Given the description of an element on the screen output the (x, y) to click on. 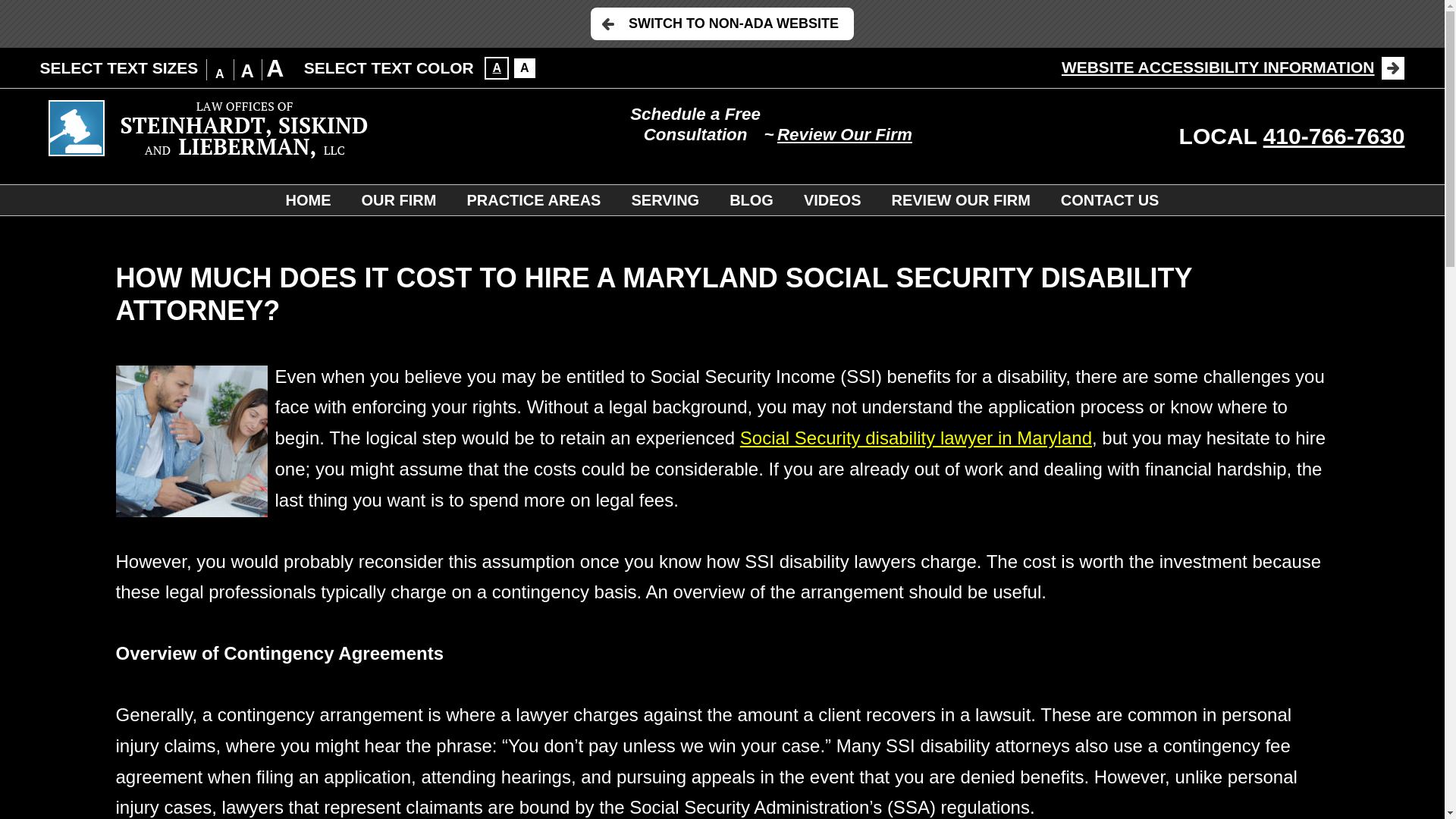
A (524, 67)
Click to view external accessibility article (1233, 67)
HOME (308, 200)
Review Our Firm (844, 135)
410-766-7630 (1334, 135)
OUR FIRM (398, 200)
SWITCH TO NON-ADA WEBSITE (722, 23)
WEBSITE ACCESSIBILITY INFORMATION (1233, 67)
Invert Colors (496, 67)
Invert Colors (524, 67)
A (496, 67)
PRACTICE AREAS (533, 200)
